Given the description of an element on the screen output the (x, y) to click on. 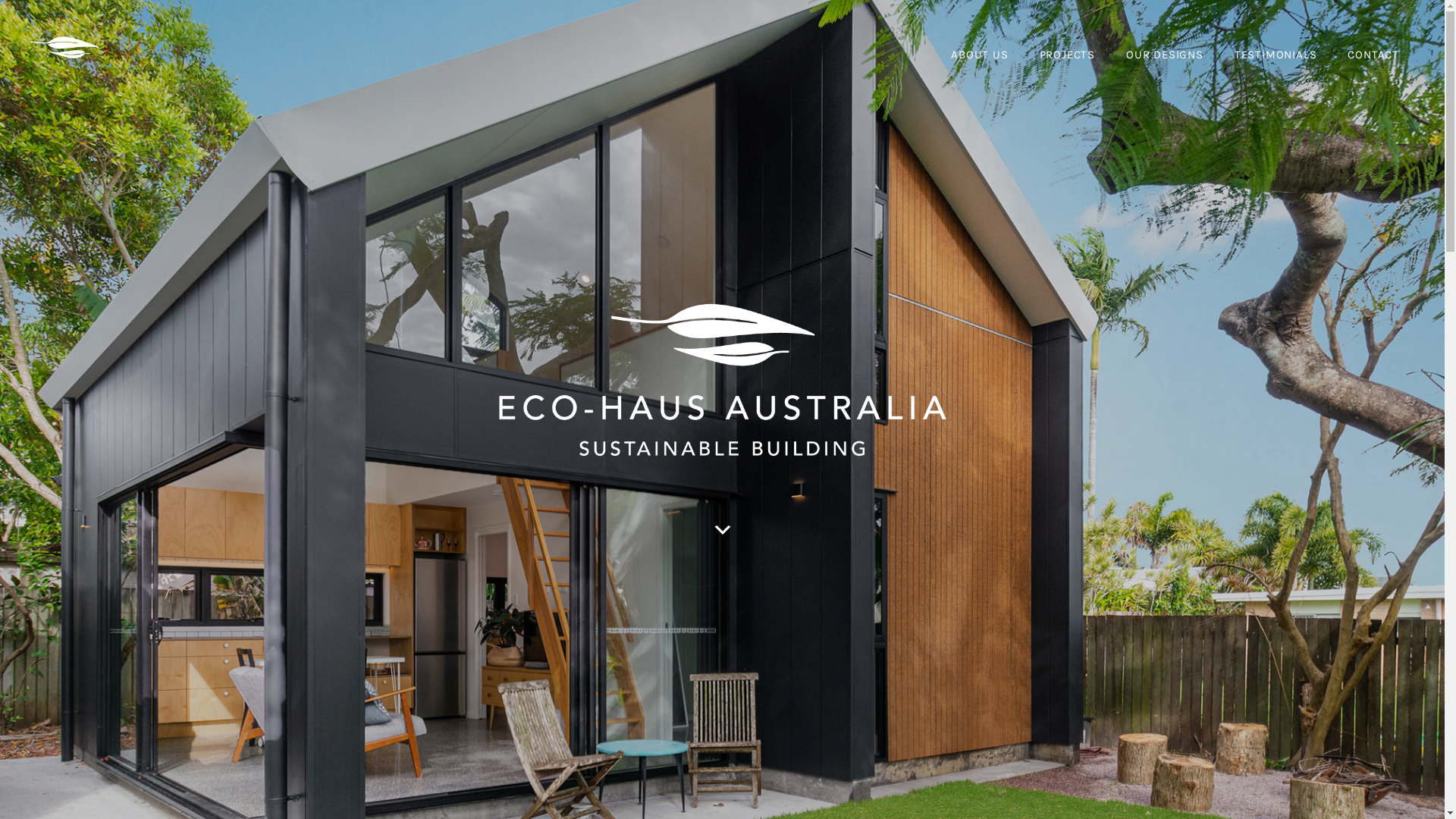
OUR DESIGNS Element type: text (1164, 55)
eco-hause-ausraliaArtboard 1 copy Element type: hover (722, 379)
PROJECTS Element type: text (1067, 55)
TESTIMONIALS Element type: text (1275, 55)
CONTACT Element type: text (1373, 55)
EcoHaus-leafonly Element type: hover (64, 47)
ABOUT US Element type: text (978, 55)
